Given the description of an element on the screen output the (x, y) to click on. 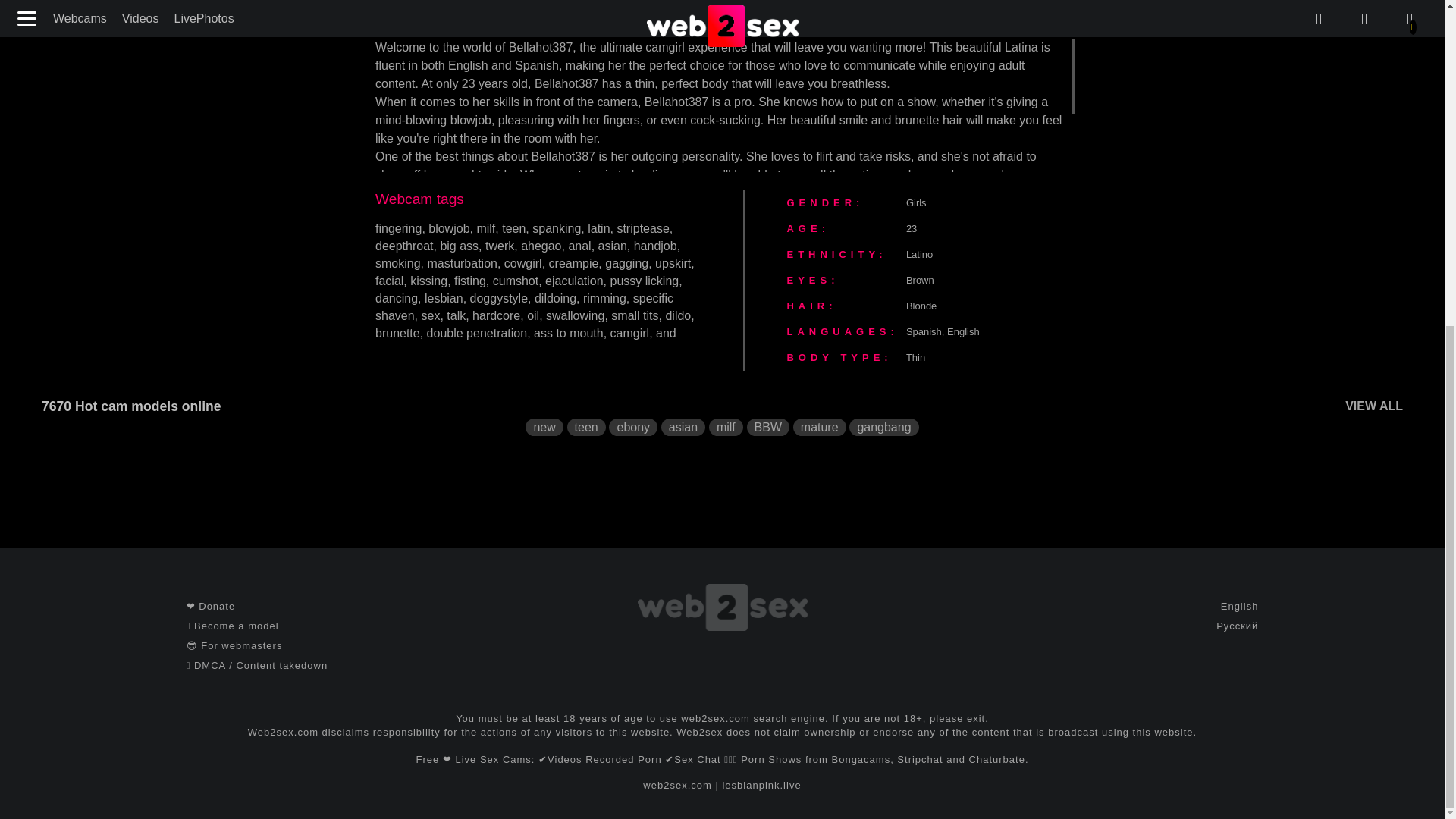
milf (485, 228)
latin (599, 228)
twerk (498, 245)
deepthroat (404, 245)
big ass (459, 245)
spanking (556, 228)
blowjob (448, 228)
fingering (398, 228)
new models (543, 426)
teen (586, 426)
teen (513, 228)
striptease (641, 228)
ahegao (540, 245)
